Given the description of an element on the screen output the (x, y) to click on. 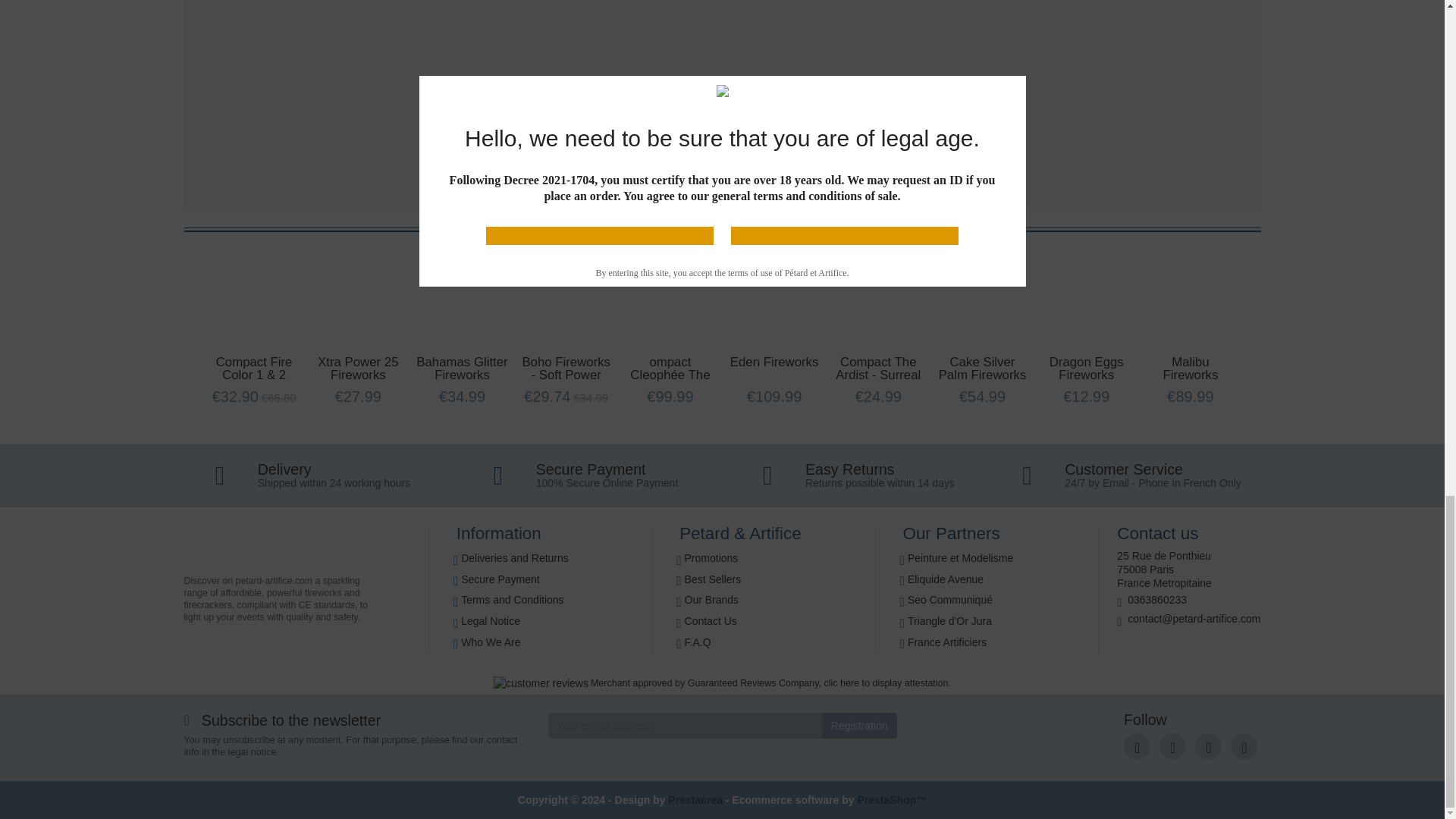
Registration (859, 725)
YouTube video player (501, 89)
Instagram (1208, 746)
Xtra Power 25 Fireworks (357, 368)
Boho Fireworks - Soft Power (565, 368)
Malibu Fireworks (1190, 368)
Dragon Eggs Fireworks (1086, 368)
YouTube (1172, 746)
Cake Silver Palm Fireworks (982, 368)
Bahamas Glitter Fireworks (461, 368)
